Given the description of an element on the screen output the (x, y) to click on. 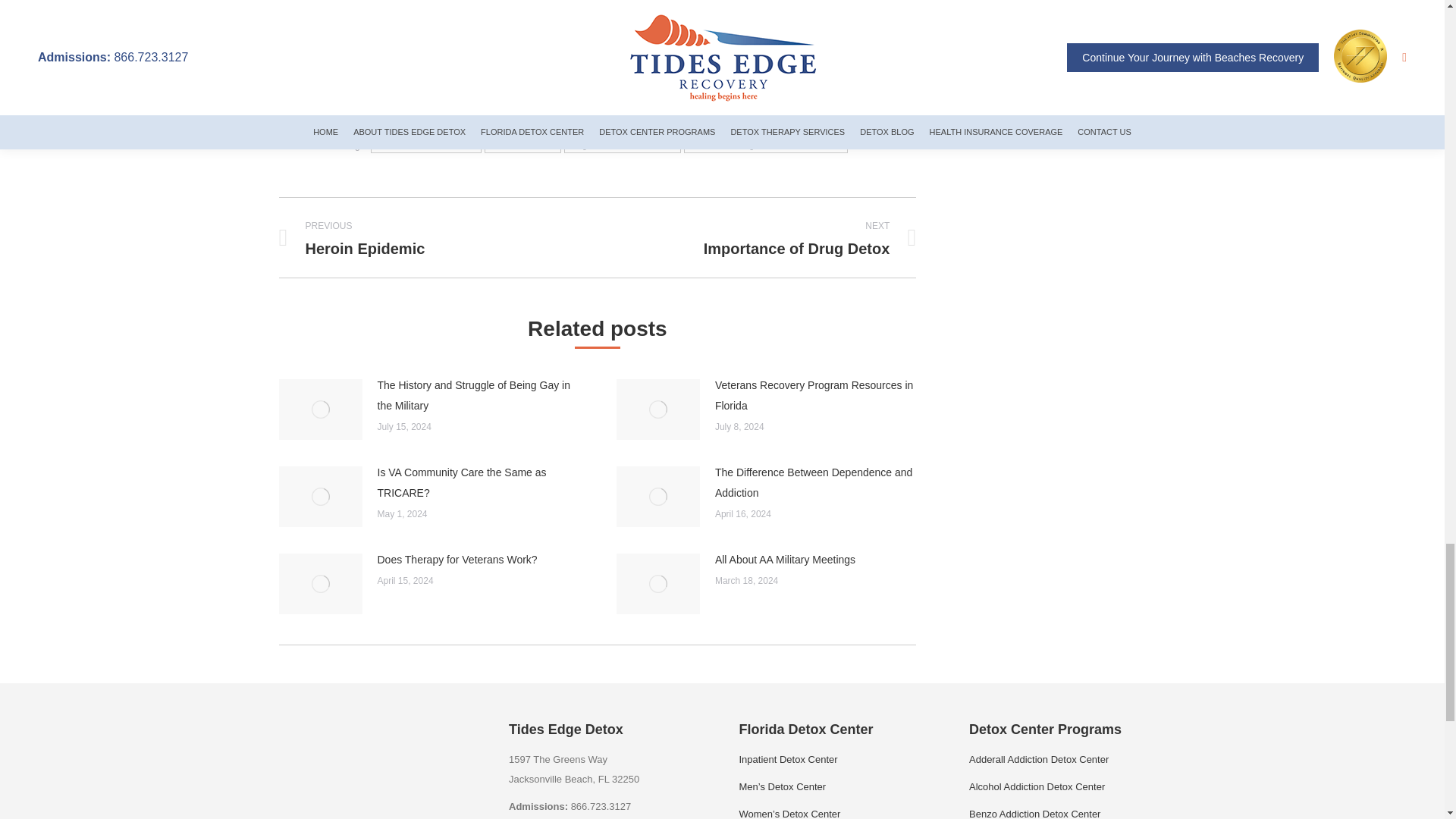
View all posts by Tides Edge Detox (778, 118)
9:00 am (855, 118)
